Given the description of an element on the screen output the (x, y) to click on. 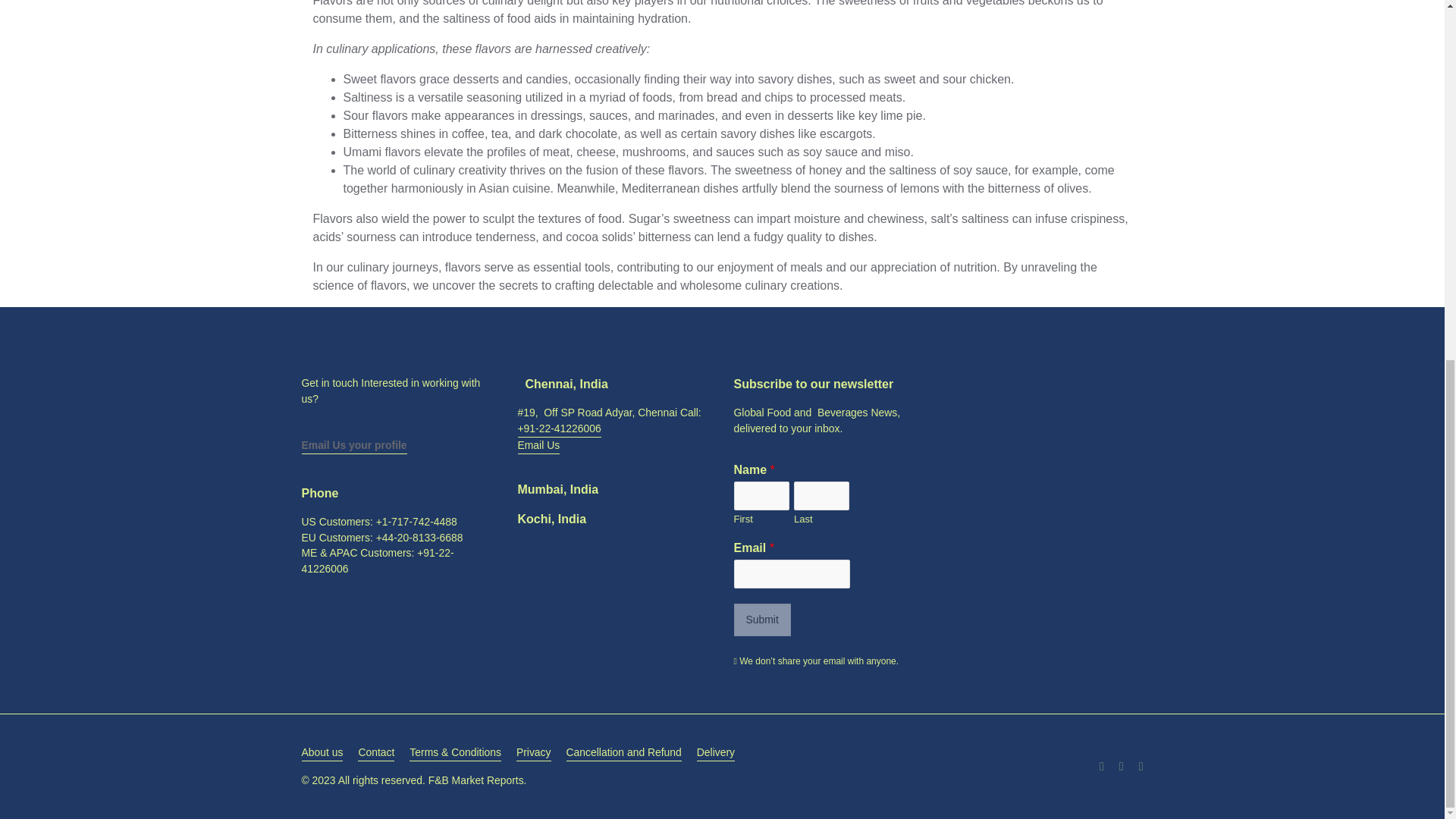
Delivery (716, 752)
Privacy (533, 752)
Contact (376, 752)
Submit (761, 619)
Cancellation and Refund (623, 752)
Email Us (537, 445)
About us (322, 752)
Email Us your profile (354, 445)
